Given the description of an element on the screen output the (x, y) to click on. 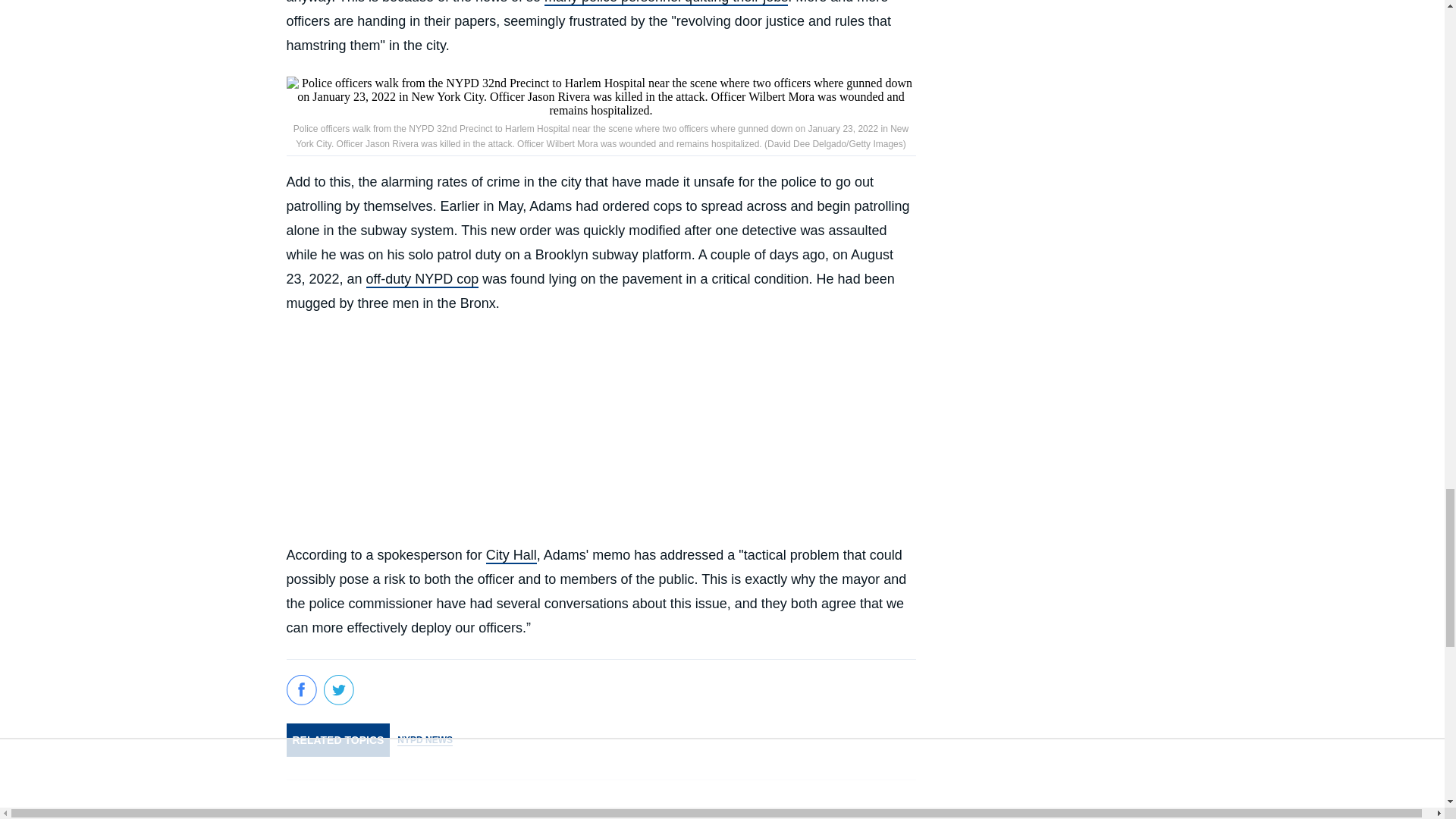
many police personnel quitting their jobs (665, 2)
off-duty NYPD cop (422, 279)
NYPD NEWS (424, 739)
City Hall (511, 555)
